Given the description of an element on the screen output the (x, y) to click on. 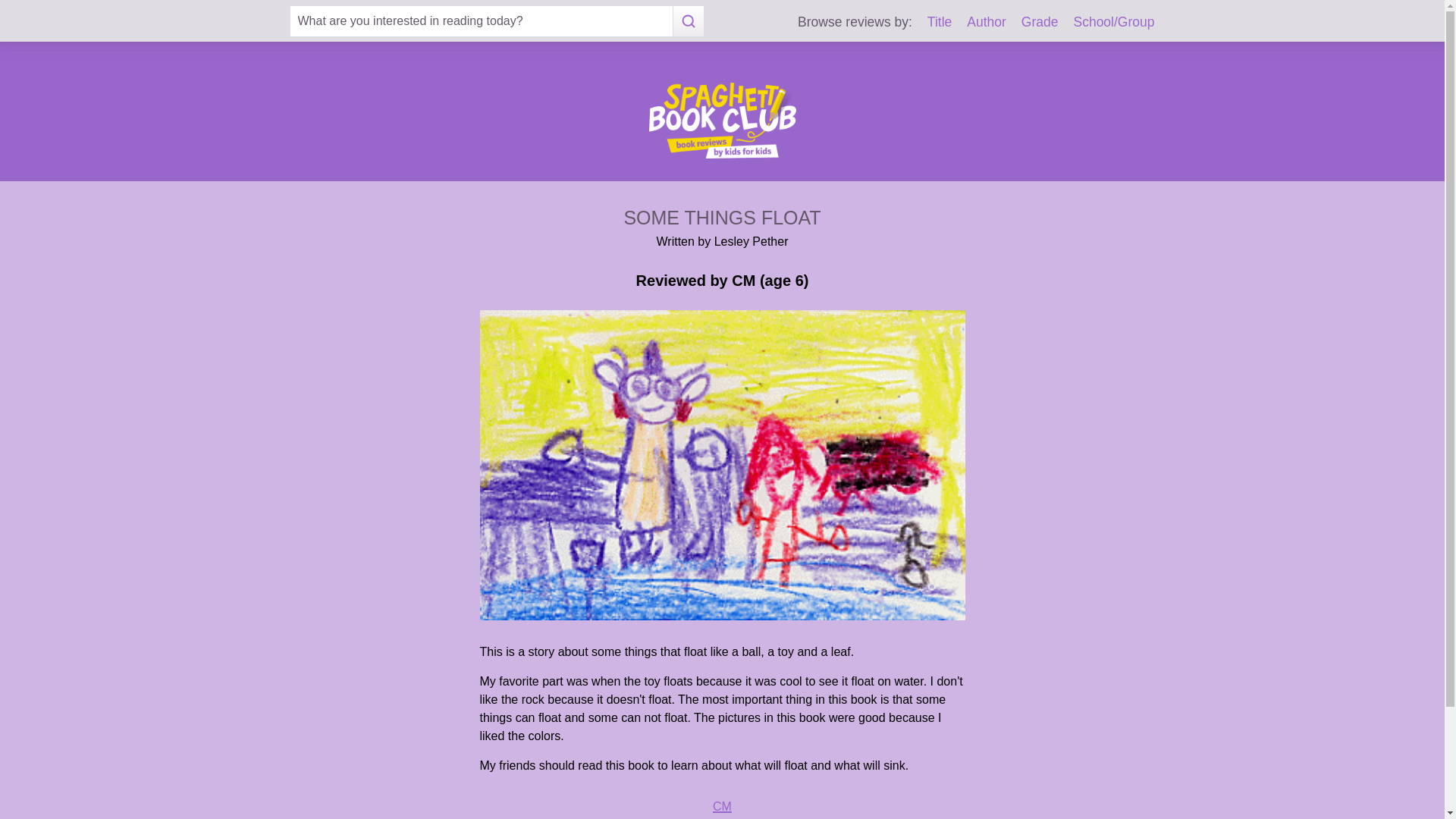
CM (722, 806)
Title (939, 21)
Author (986, 21)
Grade (1040, 21)
